Given the description of an element on the screen output the (x, y) to click on. 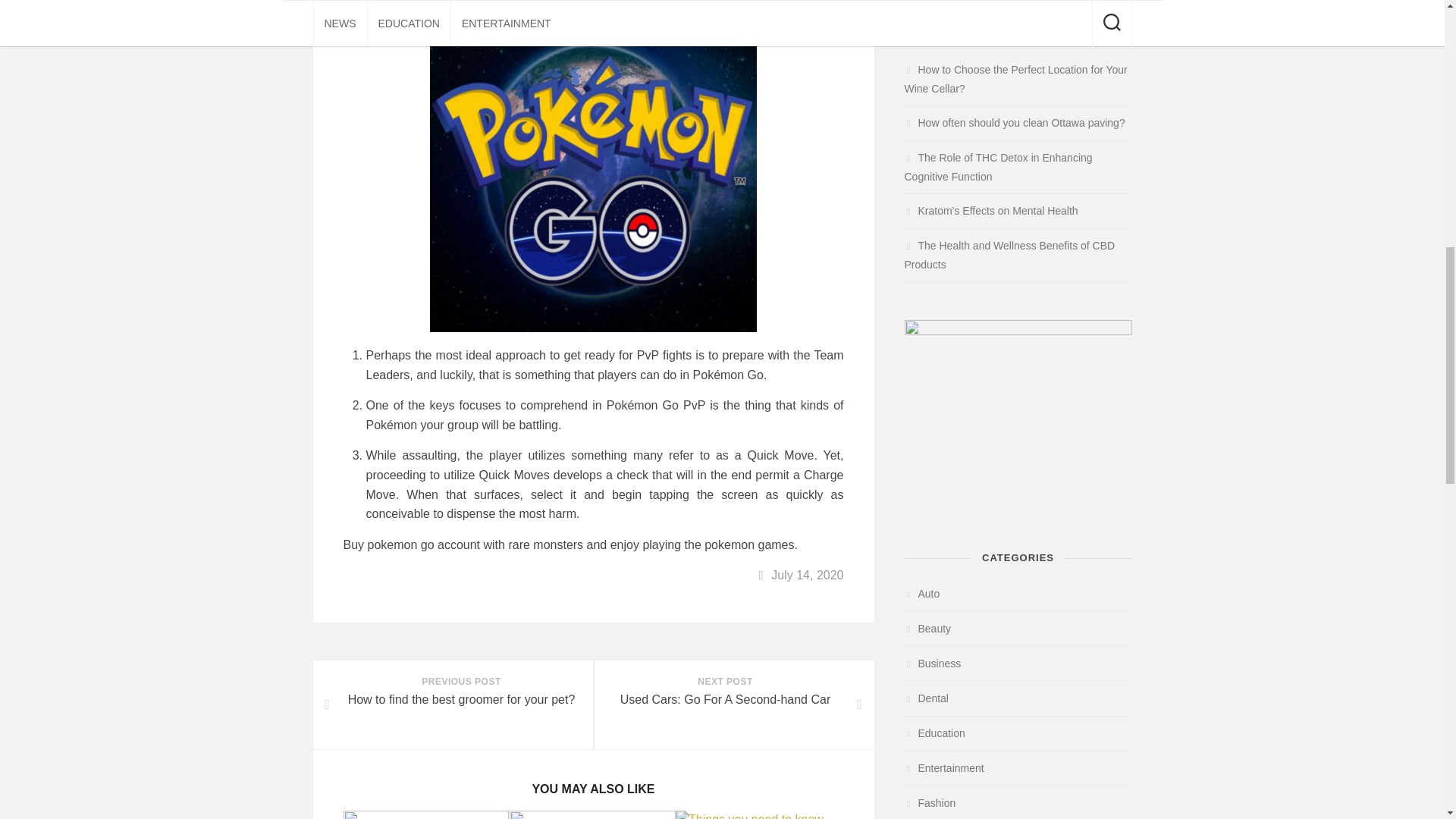
Business (932, 663)
Entertainment (944, 767)
Auto (921, 593)
How often should you clean Ottawa paving? (452, 704)
The Role of THC Detox in Enhancing Cognitive Function (1014, 122)
Fashion (998, 166)
The Health and Wellness Benefits of CBD Products (929, 802)
Beauty (732, 704)
